Given the description of an element on the screen output the (x, y) to click on. 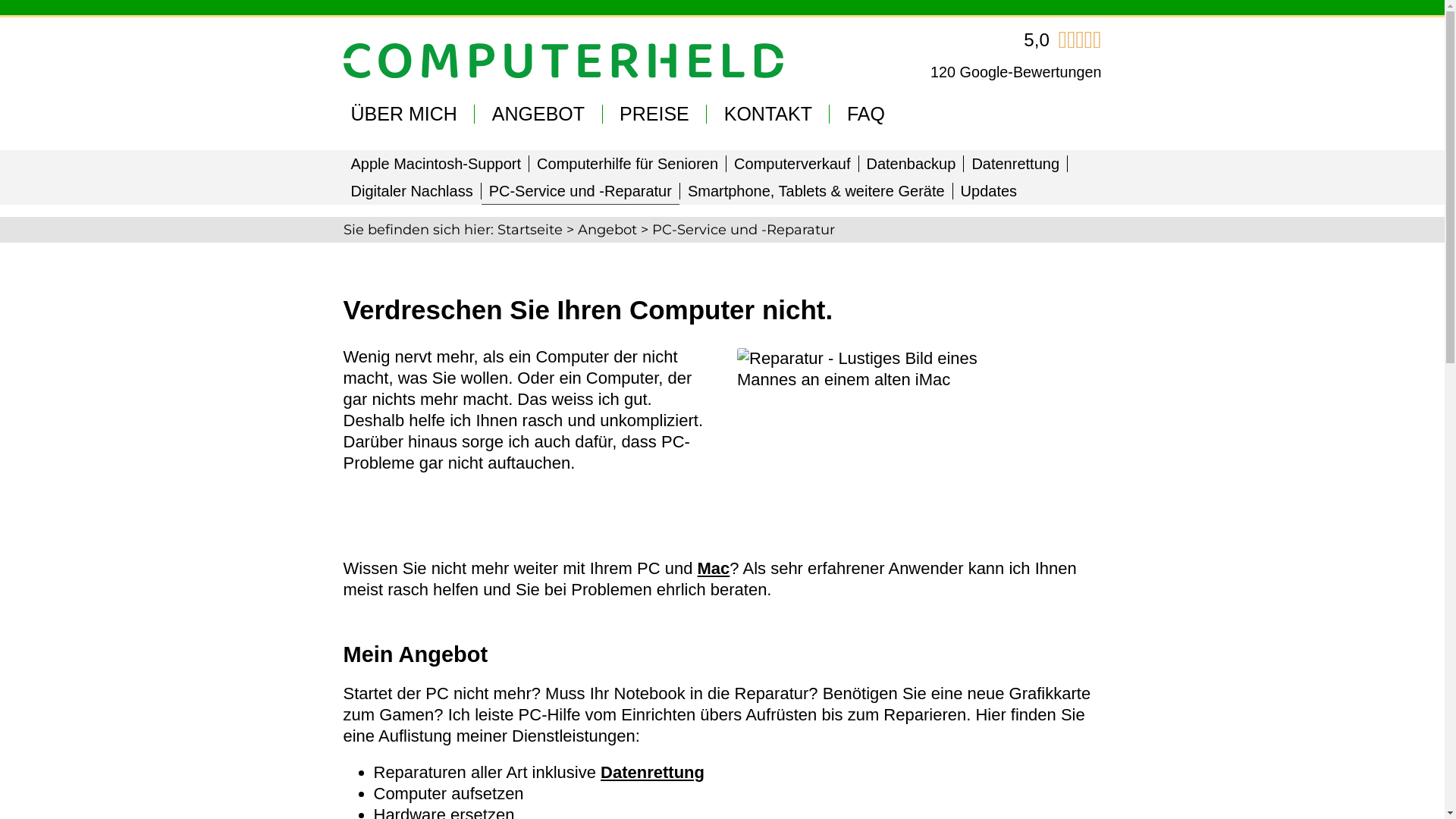
Digitaler Nachlass Element type: text (411, 190)
Datenrettung Element type: text (652, 771)
PC-Service und -Reparatur Element type: hover (868, 435)
Updates Element type: text (989, 190)
Apple Macintosh-Support Element type: text (435, 163)
PC-Service und -Reparatur Element type: text (580, 190)
Startseite Element type: text (529, 229)
KONTAKT Element type: text (767, 114)
Datenrettung Element type: text (1014, 163)
Mac Element type: text (713, 567)
Computerverkauf Element type: text (791, 163)
Datenbackup Element type: text (910, 163)
120 Google-Bewertungen Element type: text (1015, 71)
ANGEBOT Element type: text (538, 114)
Angebot Element type: text (607, 229)
FAQ Element type: text (865, 114)
PREISE Element type: text (653, 114)
